Given the description of an element on the screen output the (x, y) to click on. 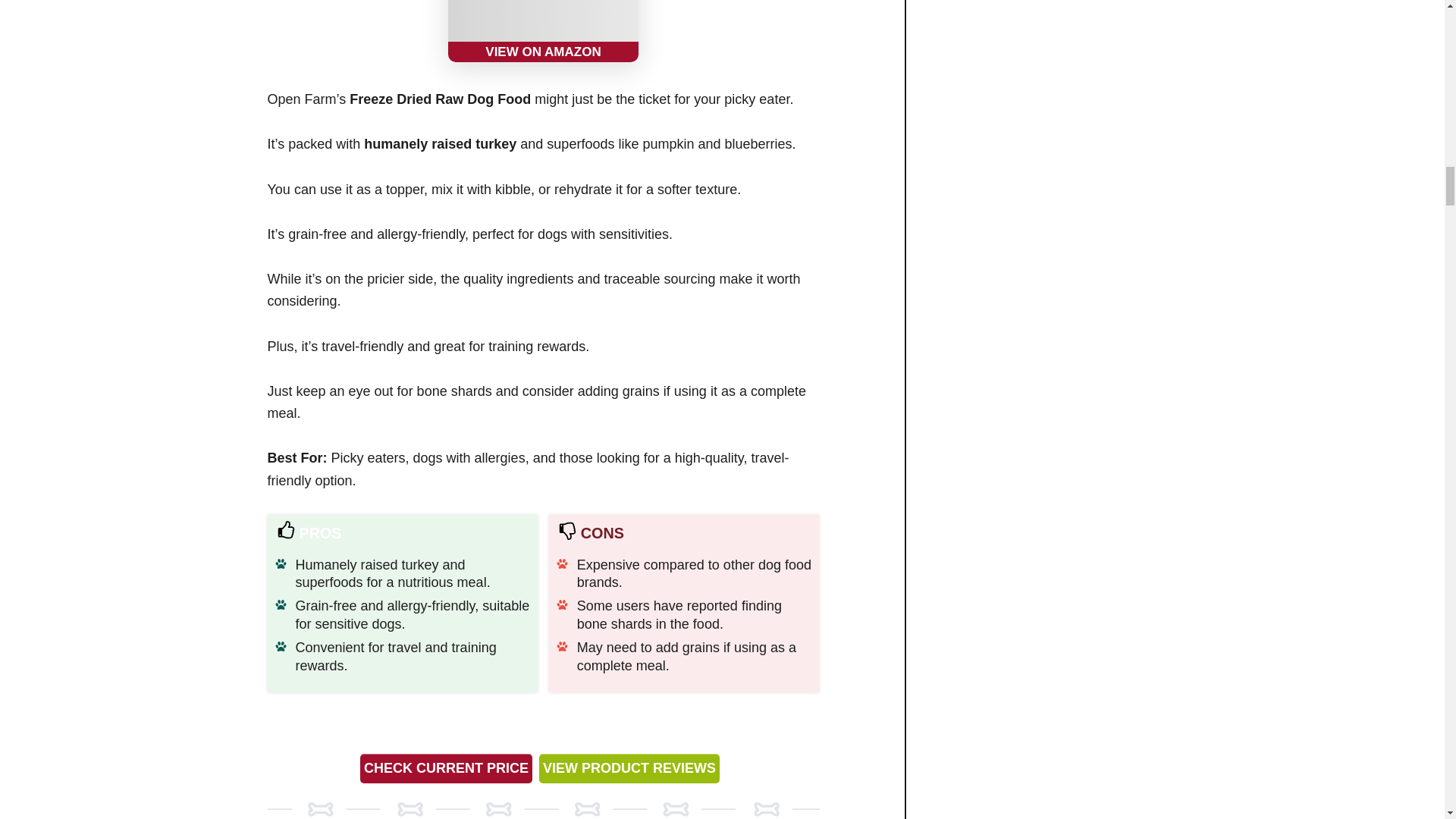
Open Farm Freeze Dried Raw (543, 31)
